Given the description of an element on the screen output the (x, y) to click on. 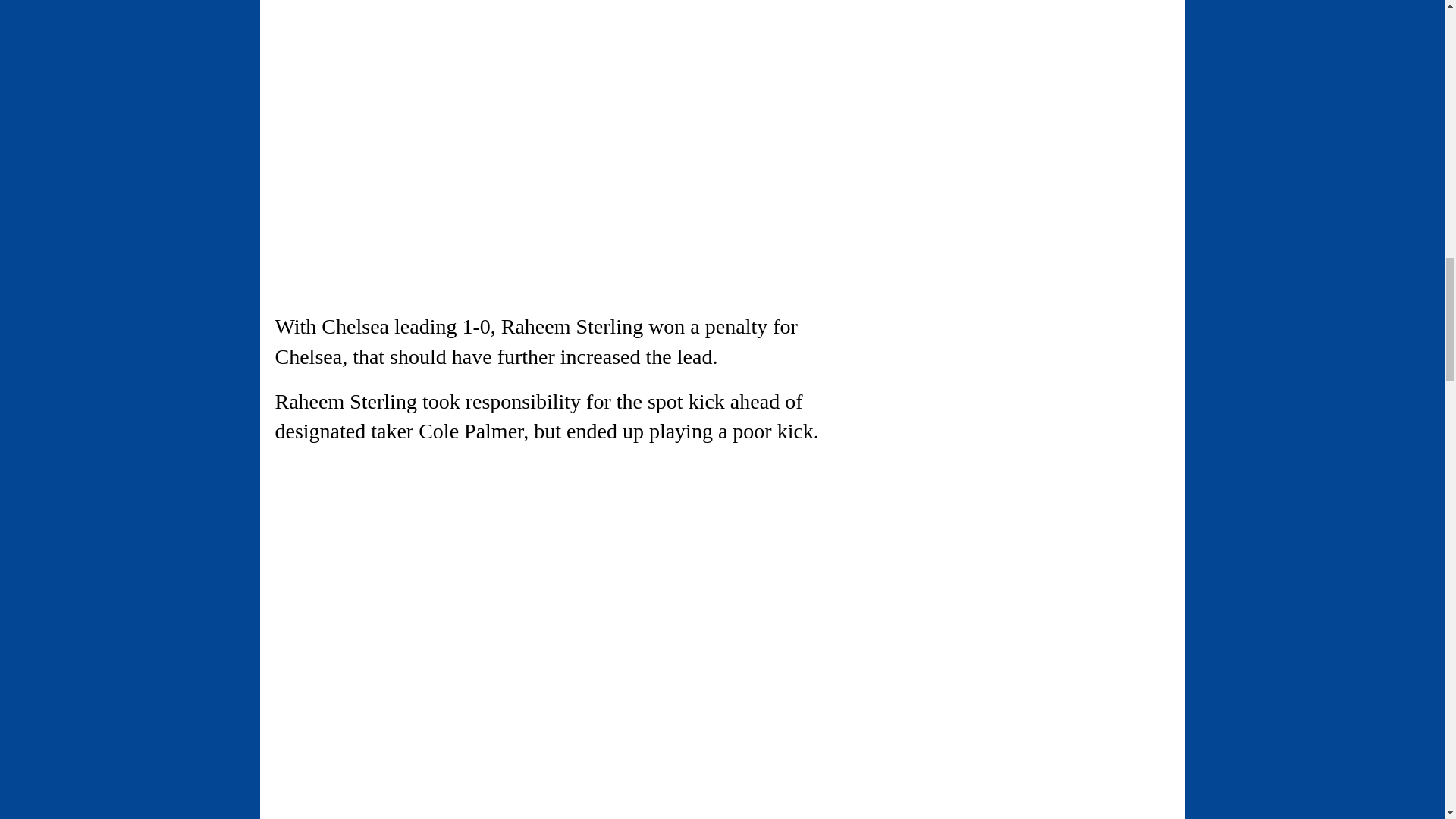
Advertisement (402, 29)
Advertisement (402, 185)
Advertisement (402, 567)
Advertisement (402, 756)
